Given the description of an element on the screen output the (x, y) to click on. 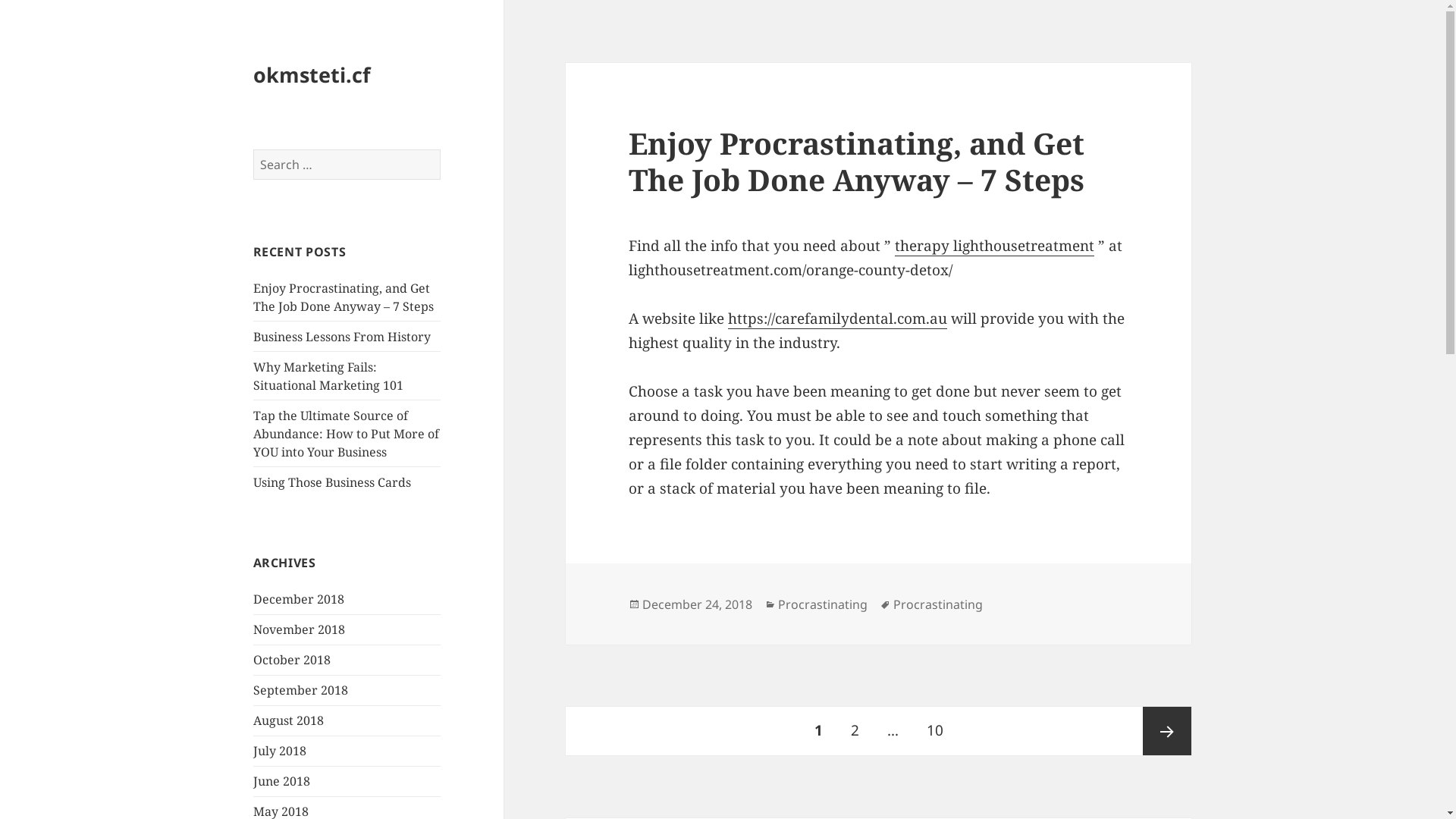
therapy lighthousetreatment Element type: text (994, 245)
Procrastinating Element type: text (822, 604)
Using Those Business Cards Element type: text (332, 481)
December 2018 Element type: text (298, 598)
Next page Element type: text (1166, 730)
Search Element type: text (440, 149)
Page
2 Element type: text (854, 730)
okmsteti.cf Element type: text (311, 74)
July 2018 Element type: text (279, 750)
August 2018 Element type: text (288, 720)
October 2018 Element type: text (291, 659)
Why Marketing Fails: Situational Marketing 101 Element type: text (328, 375)
November 2018 Element type: text (299, 629)
September 2018 Element type: text (300, 689)
Procrastinating Element type: text (937, 604)
December 24, 2018 Element type: text (697, 604)
Page
10 Element type: text (934, 730)
https://carefamilydental.com.au Element type: text (837, 318)
Business Lessons From History Element type: text (341, 336)
June 2018 Element type: text (281, 780)
